Given the description of an element on the screen output the (x, y) to click on. 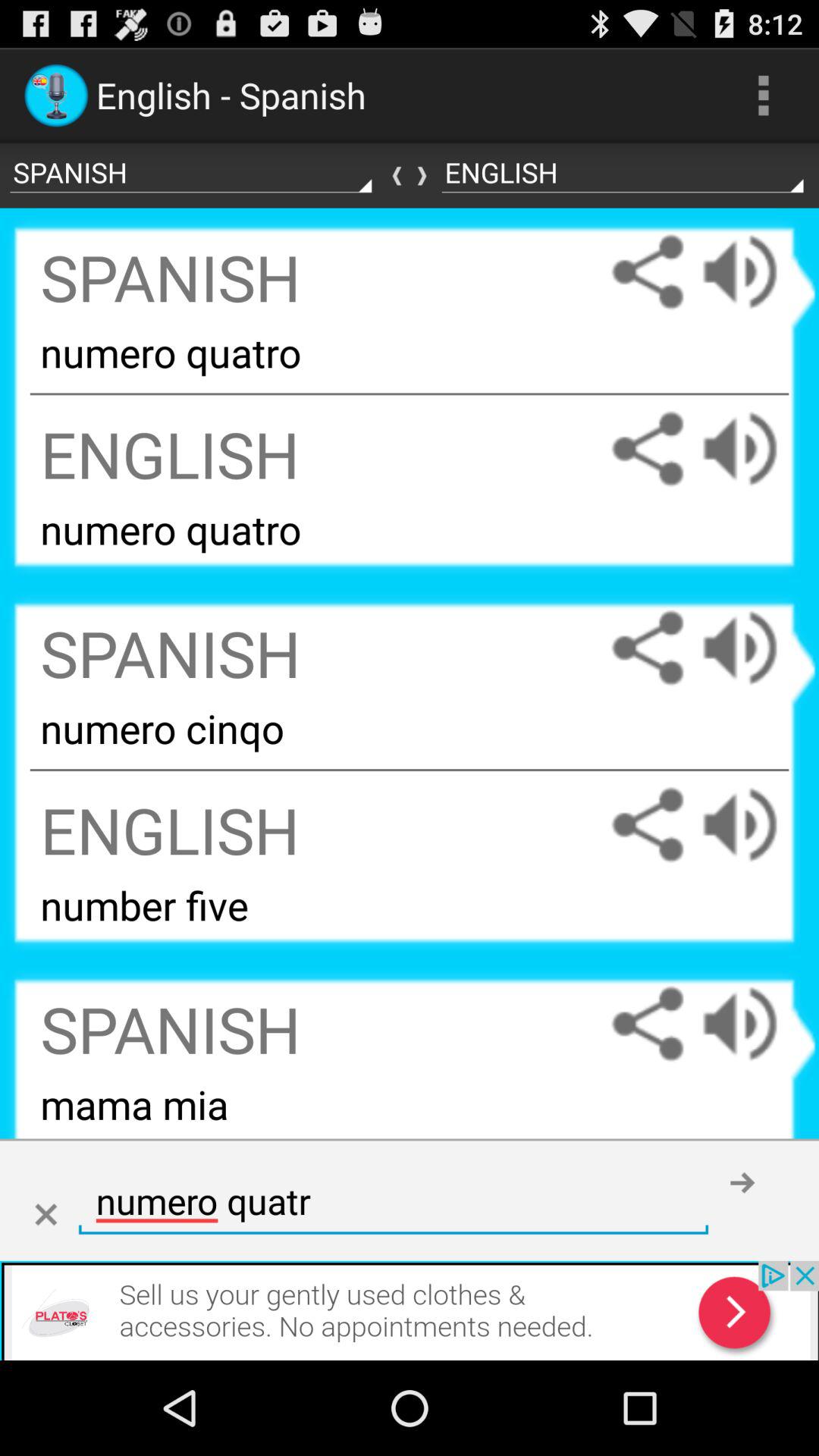
open advertisement (409, 1310)
